Given the description of an element on the screen output the (x, y) to click on. 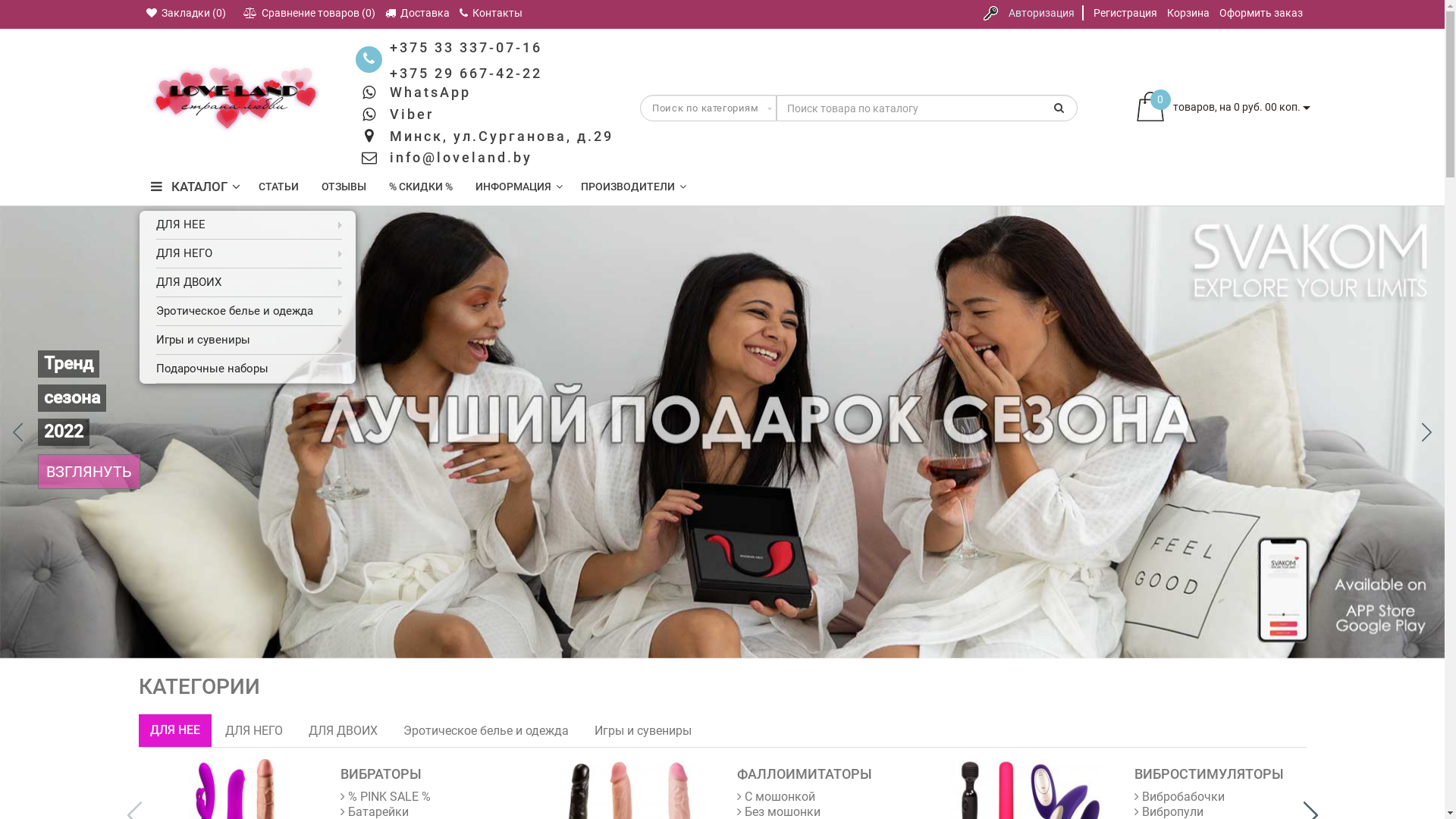
+375 33 337-07-16 Element type: text (465, 47)
Viber Element type: text (411, 114)
WhatsApp Element type: text (429, 92)
cart Element type: hover (1150, 107)
+375 29 667-42-22 Element type: text (465, 73)
% PINK SALE % Element type: text (385, 796)
info@loveland.by Element type: text (460, 157)
